Given the description of an element on the screen output the (x, y) to click on. 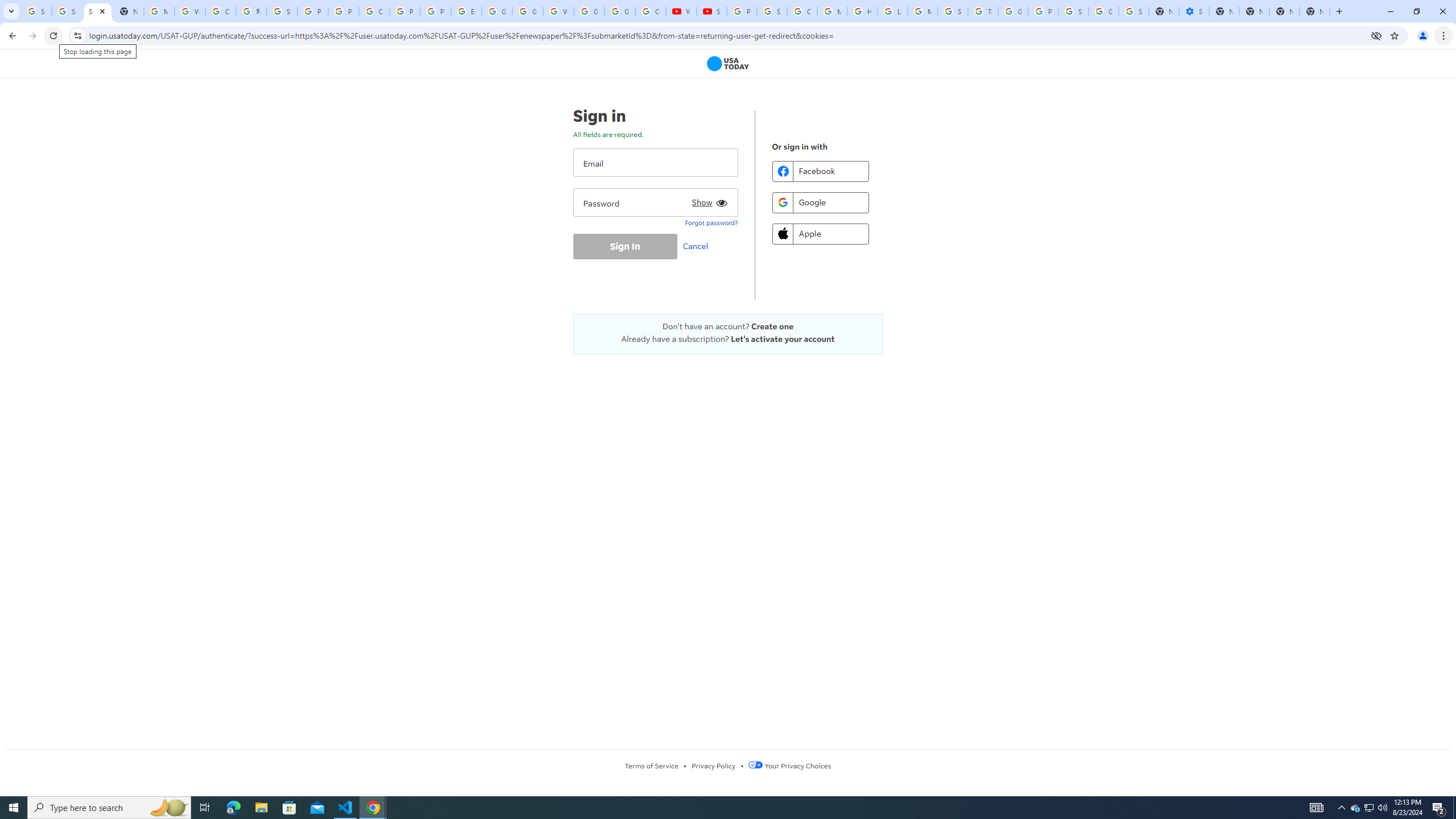
Google Slides: Sign-in (496, 11)
Sign in - Google Accounts (282, 11)
Welcome to My Activity (558, 11)
